Given the description of an element on the screen output the (x, y) to click on. 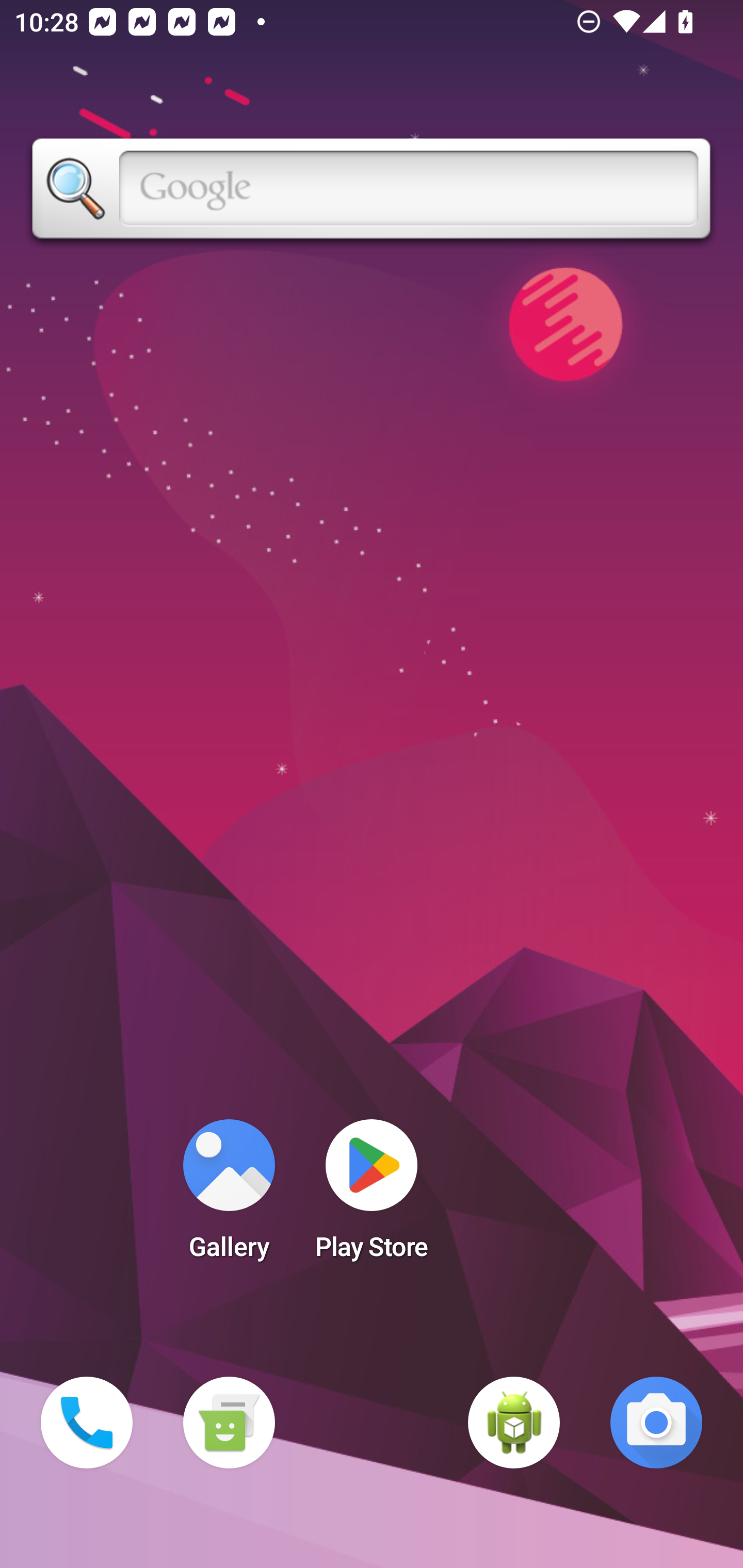
Gallery (228, 1195)
Play Store (371, 1195)
Phone (86, 1422)
Messaging (228, 1422)
WebView Browser Tester (513, 1422)
Camera (656, 1422)
